Given the description of an element on the screen output the (x, y) to click on. 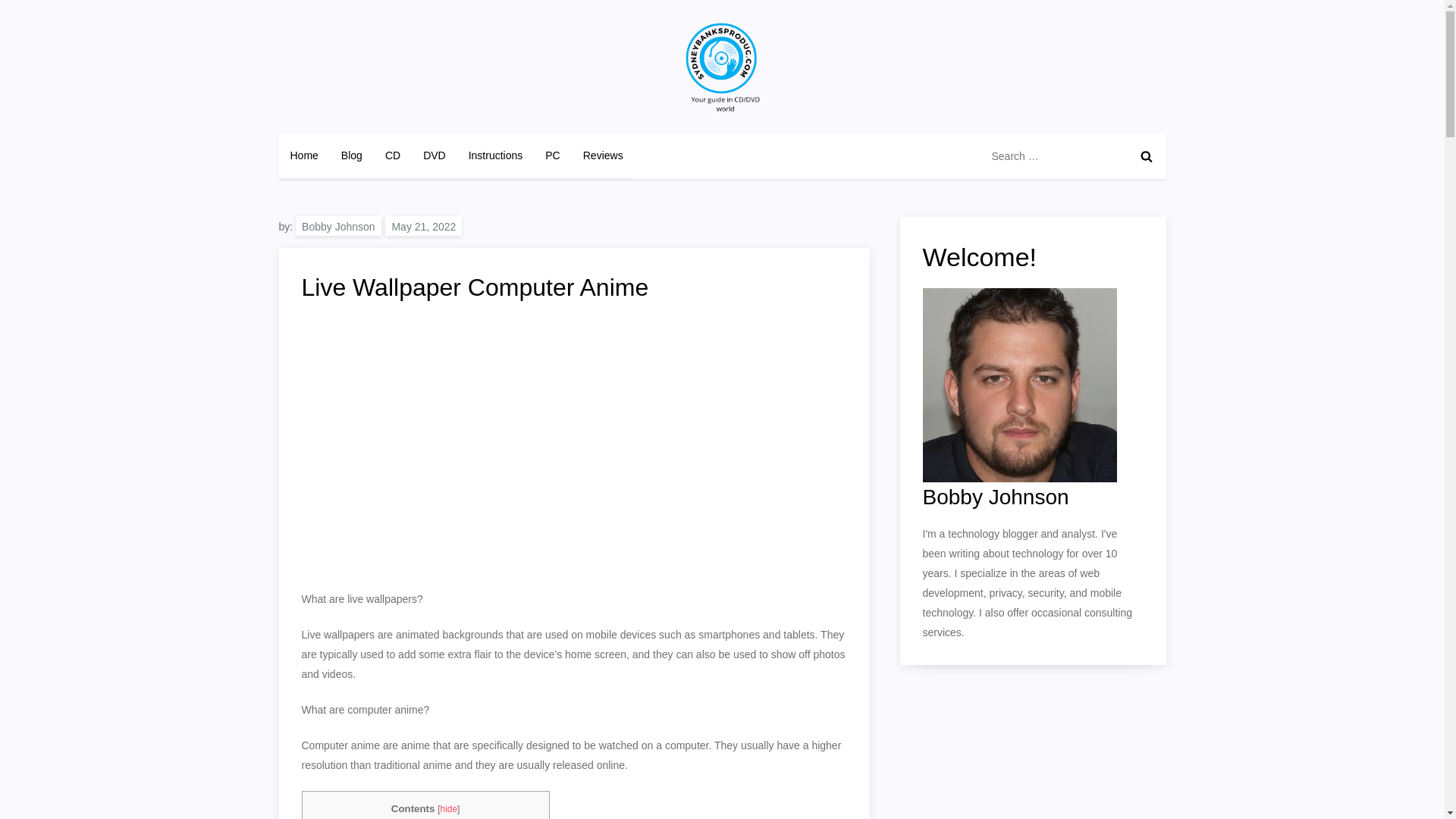
May 21, 2022 (423, 225)
Bobby Johnson (338, 225)
Reviews (603, 155)
Instructions (495, 155)
Sydneybanksproducts.com (427, 126)
DVD (434, 155)
hide (448, 808)
Blog (352, 155)
Home (304, 155)
